Given the description of an element on the screen output the (x, y) to click on. 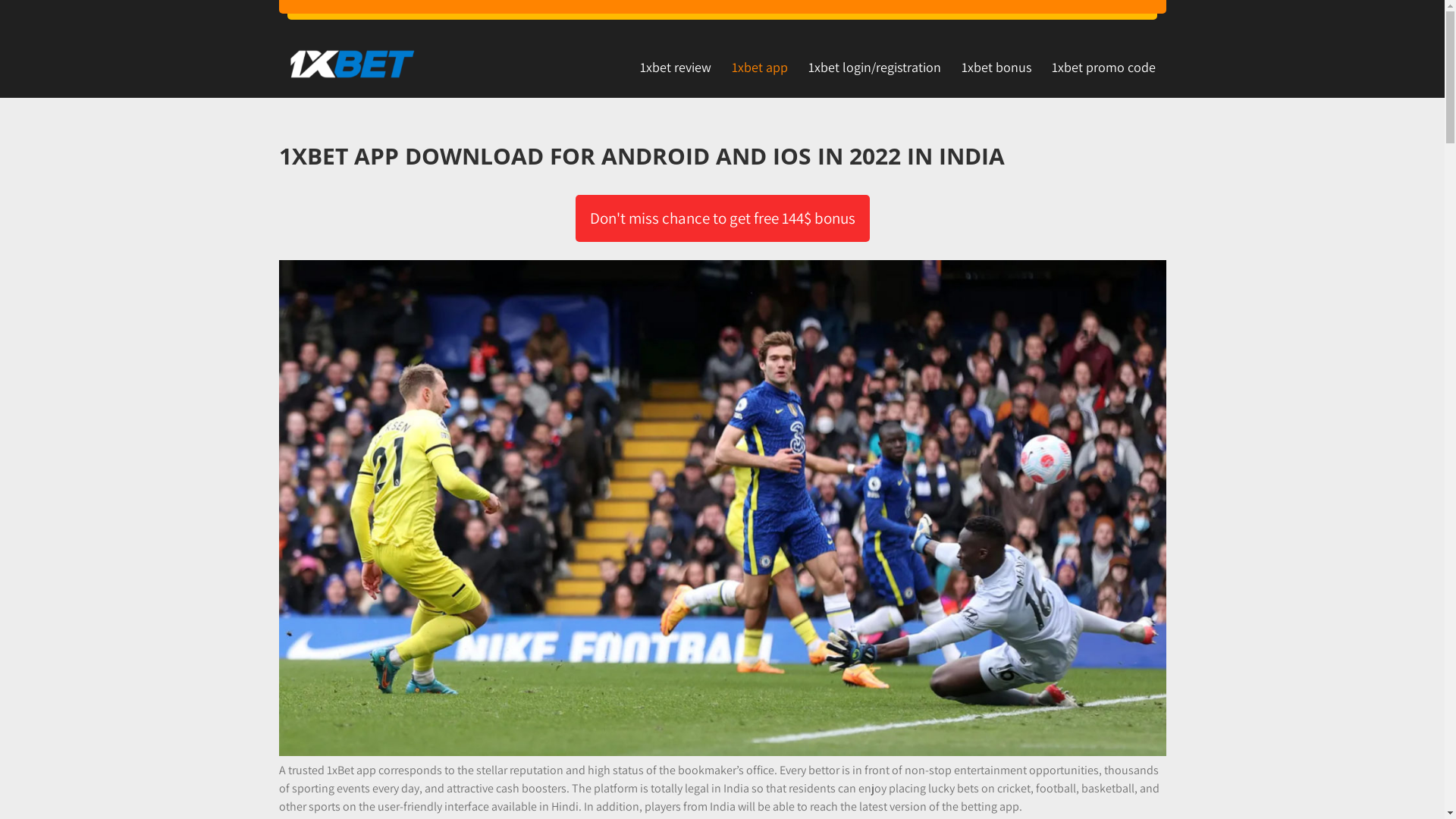
Don't miss chance to get free 144$ bonus Element type: text (721, 217)
1xbet app Element type: text (759, 66)
1xbet promo code Element type: text (1103, 66)
1xbet bonus Element type: text (995, 66)
1xbet review Element type: text (675, 66)
1xbet-review-in.com Element type: text (330, 94)
1xbet login/registration Element type: text (873, 66)
